Given the description of an element on the screen output the (x, y) to click on. 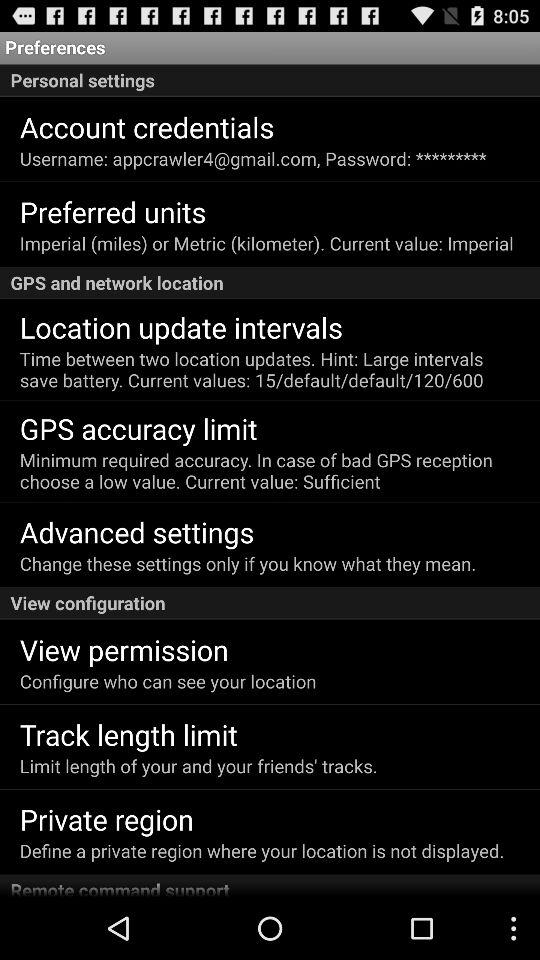
open the imperial miles or item (266, 242)
